Given the description of an element on the screen output the (x, y) to click on. 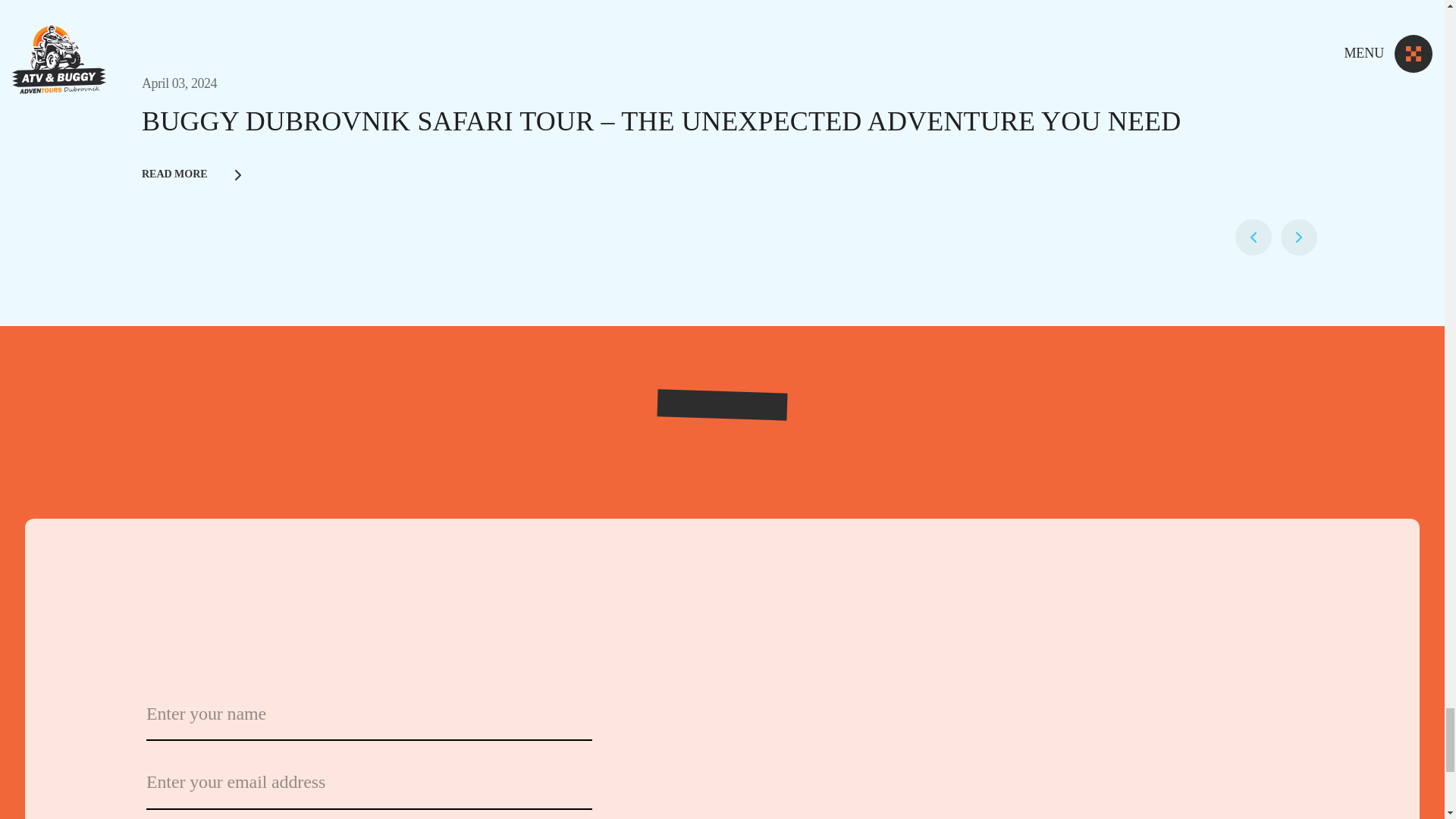
READ MORE (786, 175)
